Given the description of an element on the screen output the (x, y) to click on. 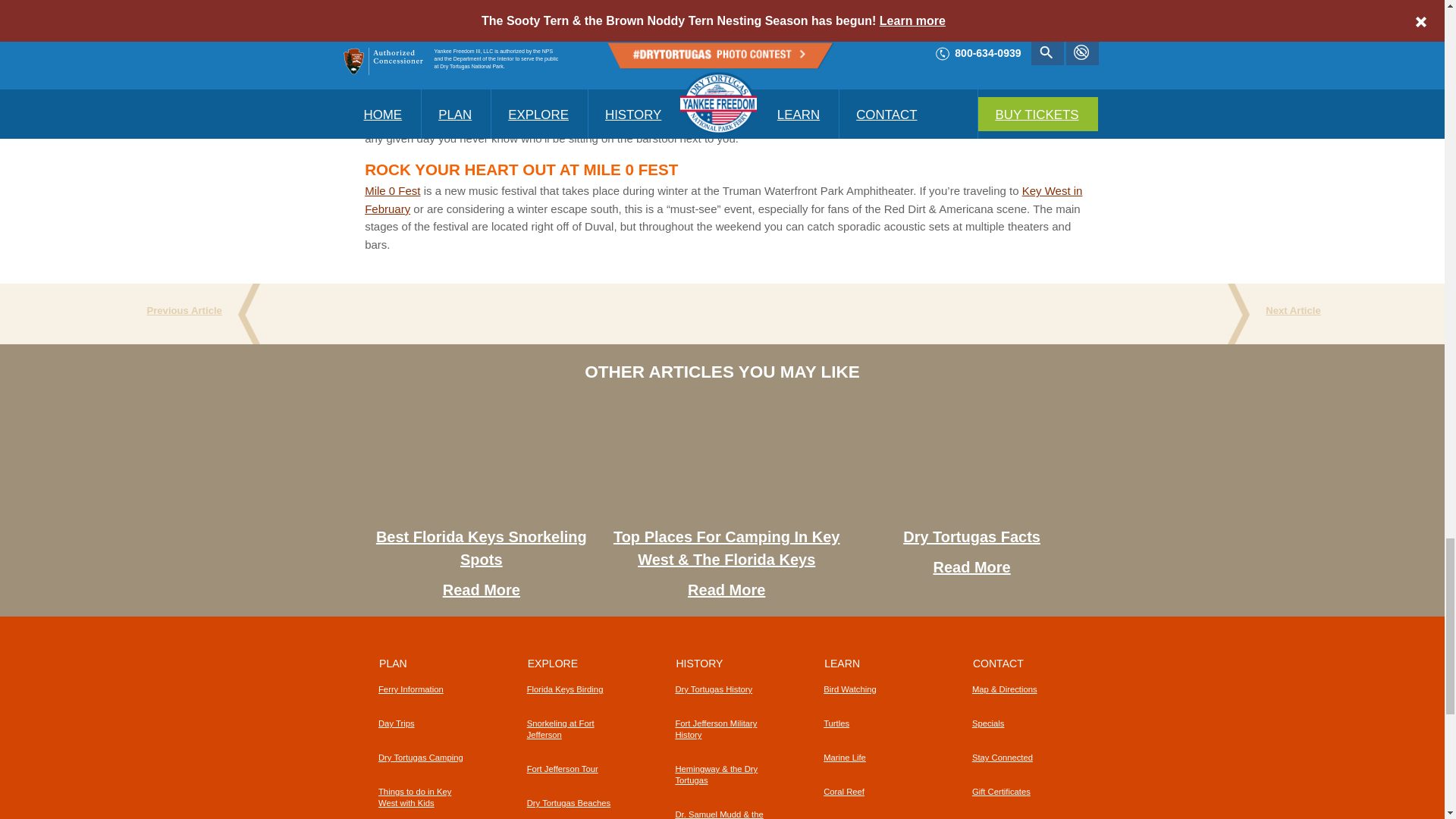
Dry Tortugas Facts (971, 536)
Best Florida Keys Snorkeling Spots (497, 462)
Dry Tortugas Facts (988, 462)
Best Florida Keys Snorkeling Spots (480, 548)
Dry Tortugas Facts (971, 566)
Best Florida Keys Snorkeling Spots (480, 589)
